Given the description of an element on the screen output the (x, y) to click on. 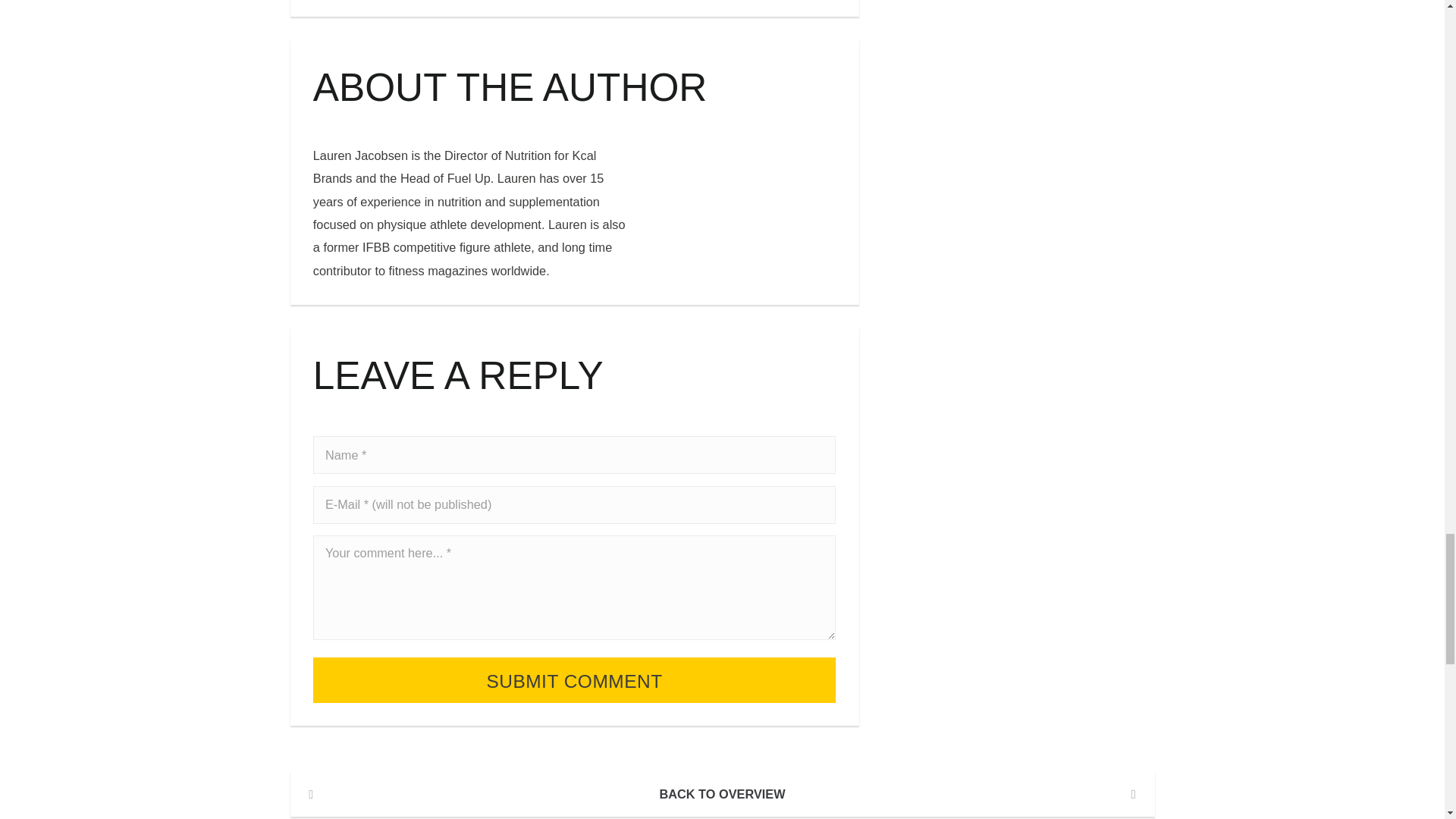
BACK TO OVERVIEW (721, 793)
Previous Page (310, 793)
SUBMIT COMMENT (574, 679)
Next Page (1133, 793)
